Given the description of an element on the screen output the (x, y) to click on. 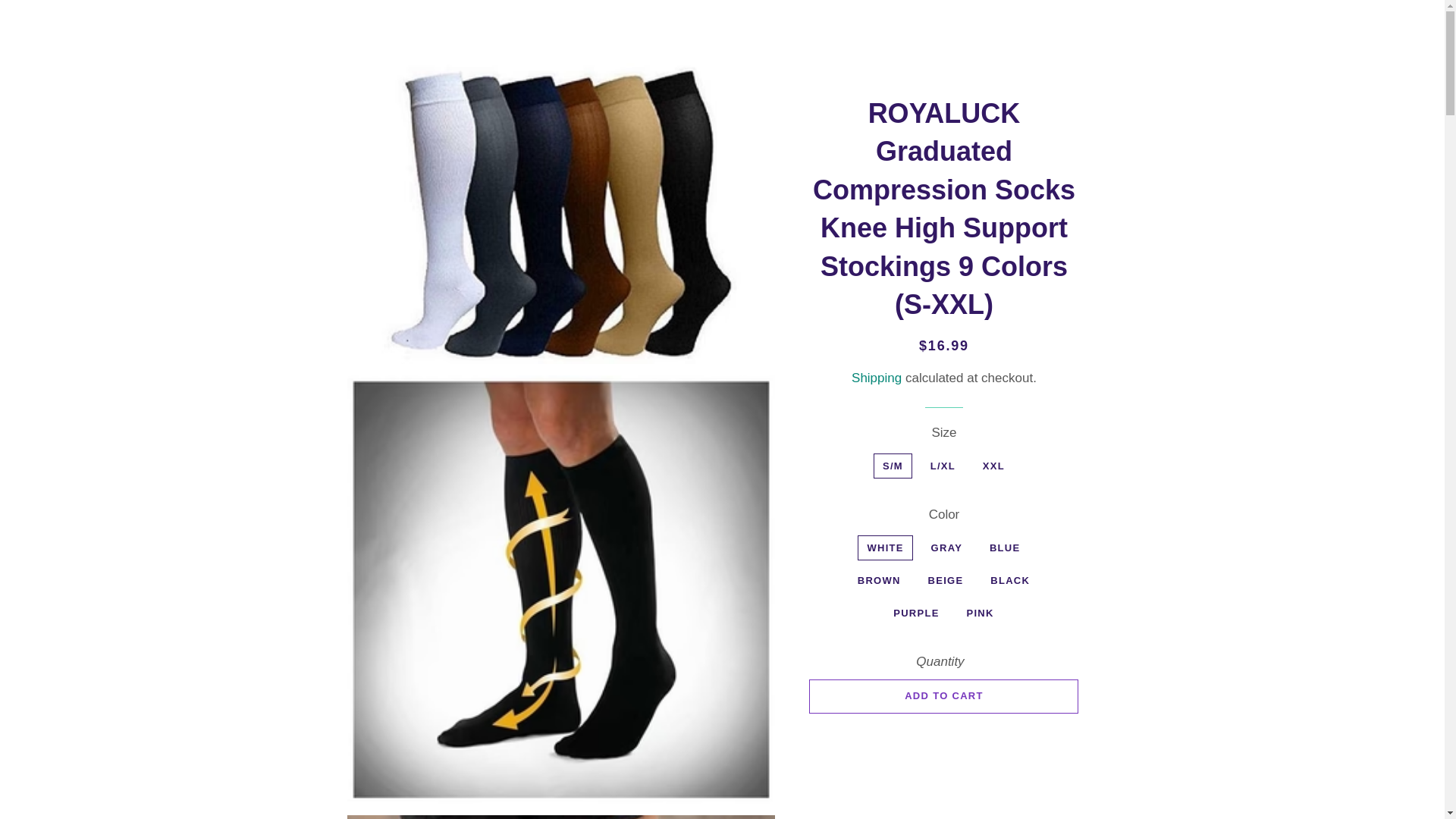
Shipping (876, 377)
ADD TO CART (943, 695)
